Given the description of an element on the screen output the (x, y) to click on. 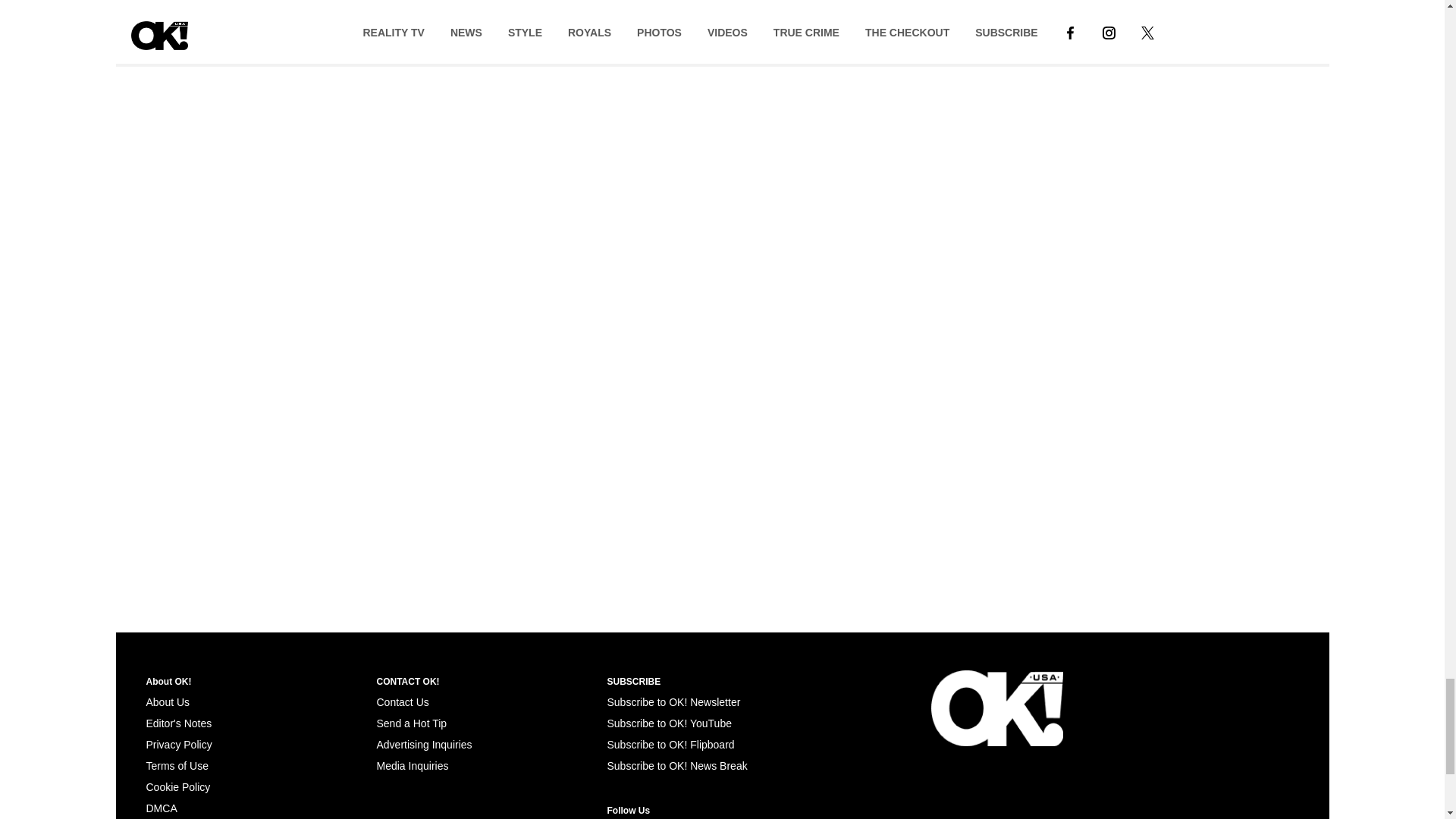
Cookie Policy (177, 787)
Privacy Policy (178, 744)
About Us (167, 702)
Editor's Notes (178, 723)
Cookie Policy (160, 808)
Contact Us (401, 702)
Advertising Inquiries (423, 744)
Terms of Use (176, 766)
Send a Hot Tip (410, 723)
Media Inquiries (411, 766)
